Given the description of an element on the screen output the (x, y) to click on. 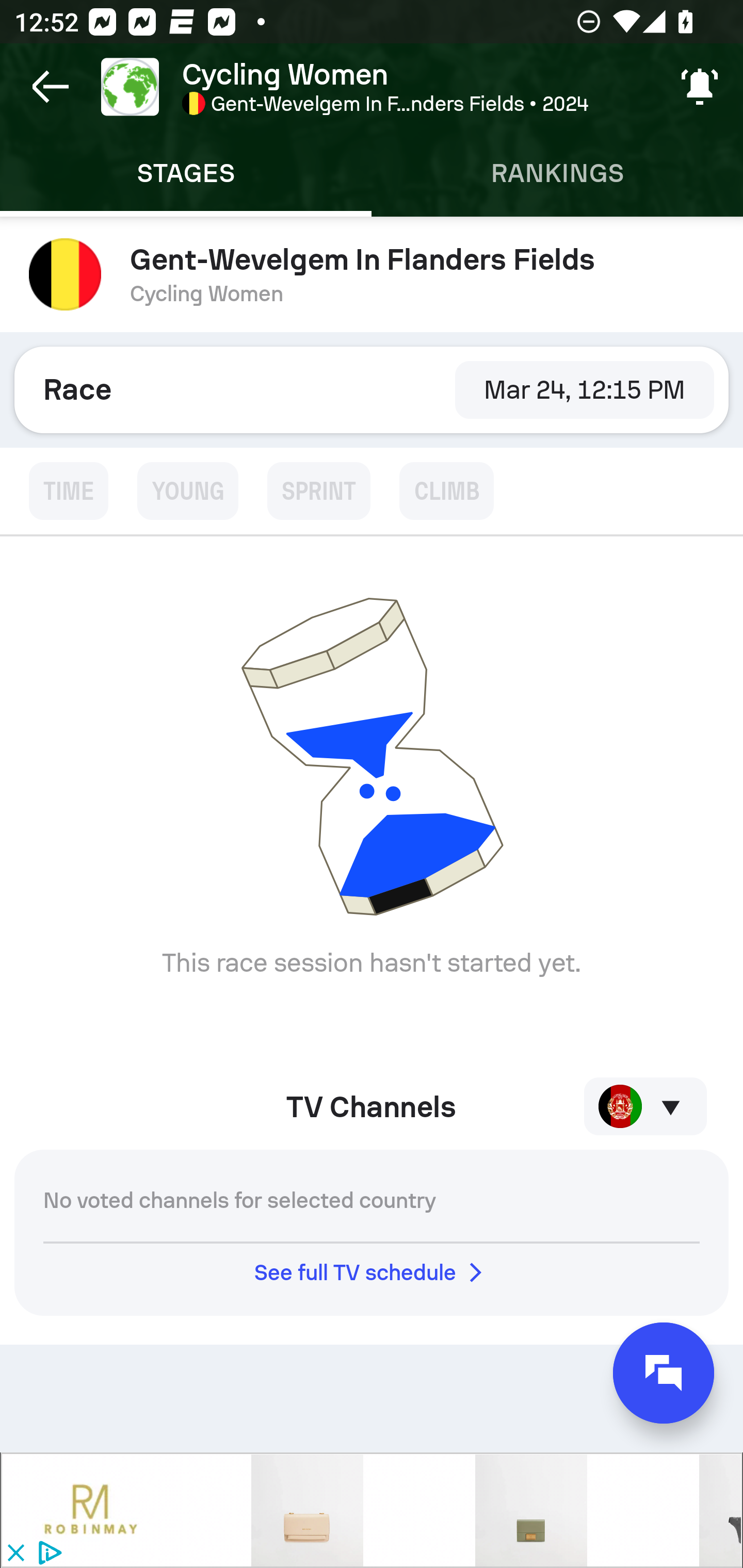
Navigate up (50, 86)
Rankings RANKINGS (557, 173)
Race Mar 24, 12:15 PM (371, 389)
Mar 24, 12:15 PM (584, 389)
See full TV schedule (371, 1272)
CHAT (663, 1372)
close_button (14, 1553)
privacy_small (47, 1553)
